Given the description of an element on the screen output the (x, y) to click on. 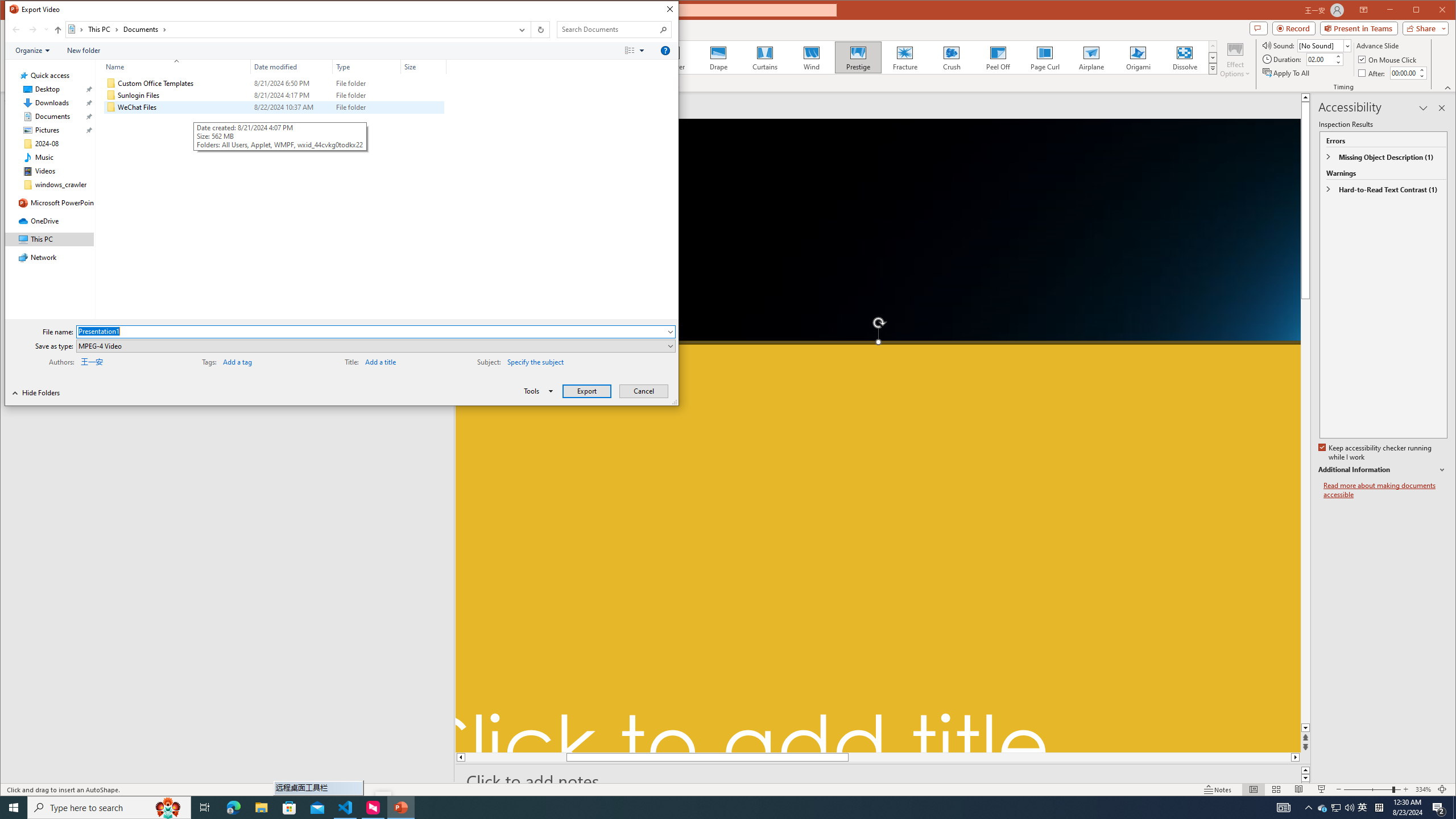
Refresh "Documents" (F5) (538, 29)
Duration (1320, 59)
Date modified (291, 66)
New folder (83, 50)
Navigation buttons (28, 29)
